Given the description of an element on the screen output the (x, y) to click on. 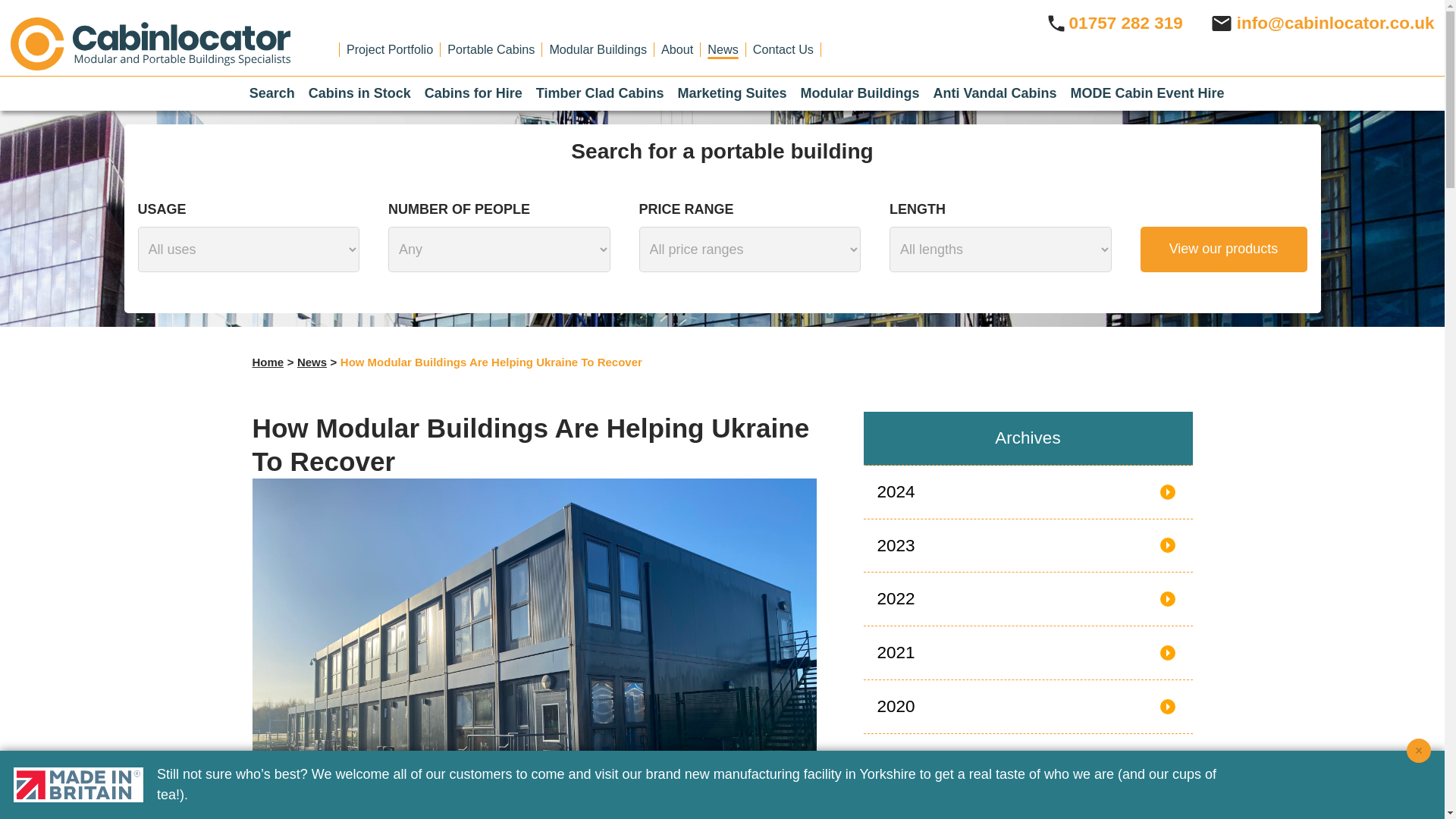
Project Portfolio (389, 49)
Contact Us (782, 49)
Portable Cabins (490, 49)
01757 282 319 (1113, 23)
About (677, 49)
News (722, 49)
Modular Buildings (597, 49)
